Given the description of an element on the screen output the (x, y) to click on. 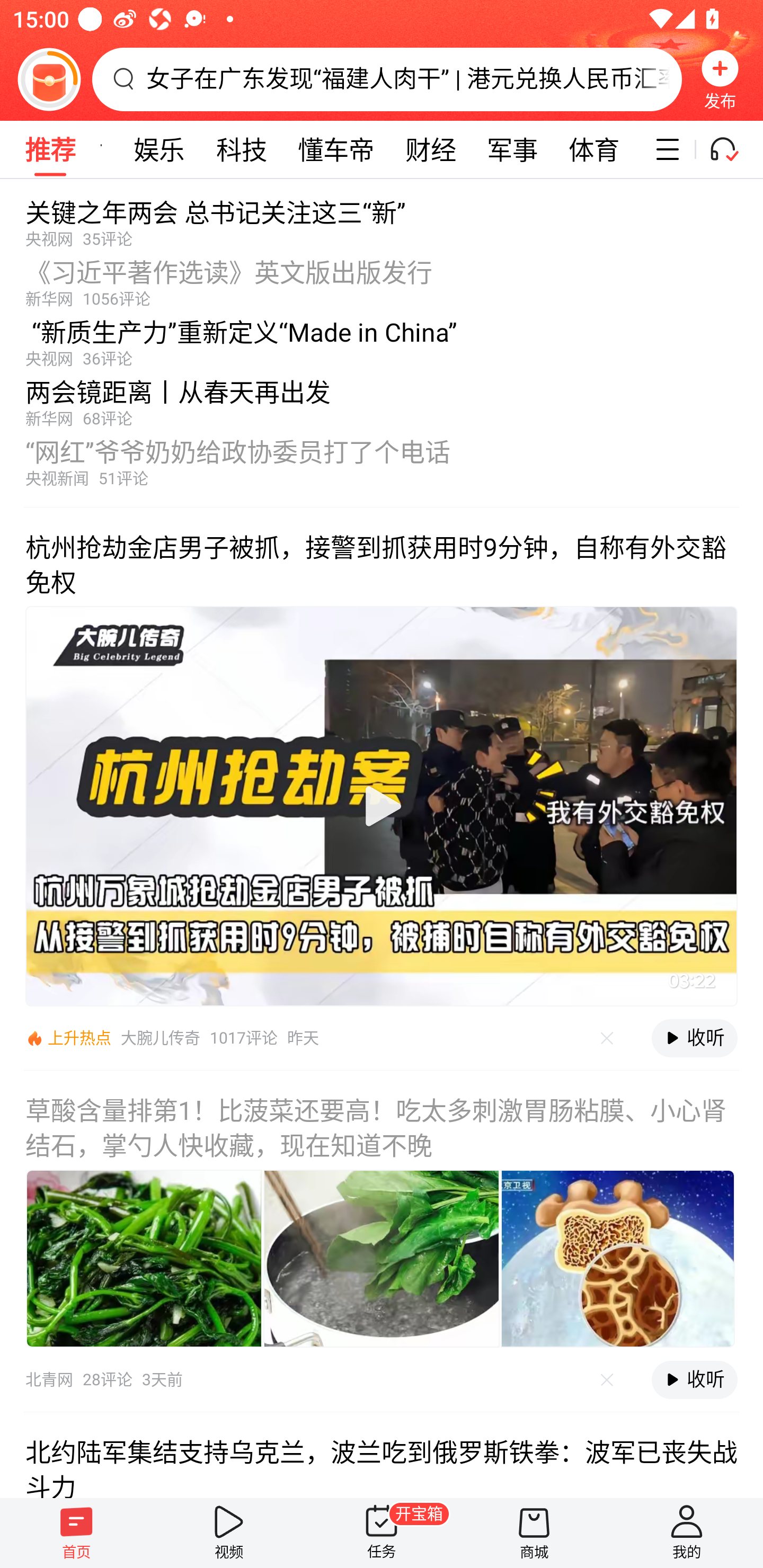
阅读赚金币 (48, 79)
发布 发布，按钮 (720, 78)
推荐 (49, 149)
娱乐 (158, 149)
科技 (241, 149)
懂车帝 (336, 149)
财经 (430, 149)
军事 (512, 149)
体育 (593, 149)
听一听开关 (732, 149)
两会镜距离丨从春天再出发新华网68评论 文章 两会镜距离丨从春天再出发 新华网68评论 (381, 398)
播放视频 视频播放器，双击屏幕打开播放控制 (381, 805)
播放视频 (381, 806)
收听 (694, 1037)
不感兴趣 (607, 1037)
三张内容图片 内容图片 内容图片 内容图片 (381, 1258)
内容图片 (381, 1258)
内容图片 (617, 1258)
收听 (694, 1379)
不感兴趣 (607, 1379)
北约陆军集结支持乌克兰，波兰吃到俄罗斯铁拳：波军已丧失战斗力 (381, 1454)
首页 (76, 1532)
视频 (228, 1532)
任务 开宝箱 (381, 1532)
商城 (533, 1532)
我的 (686, 1532)
